Given the description of an element on the screen output the (x, y) to click on. 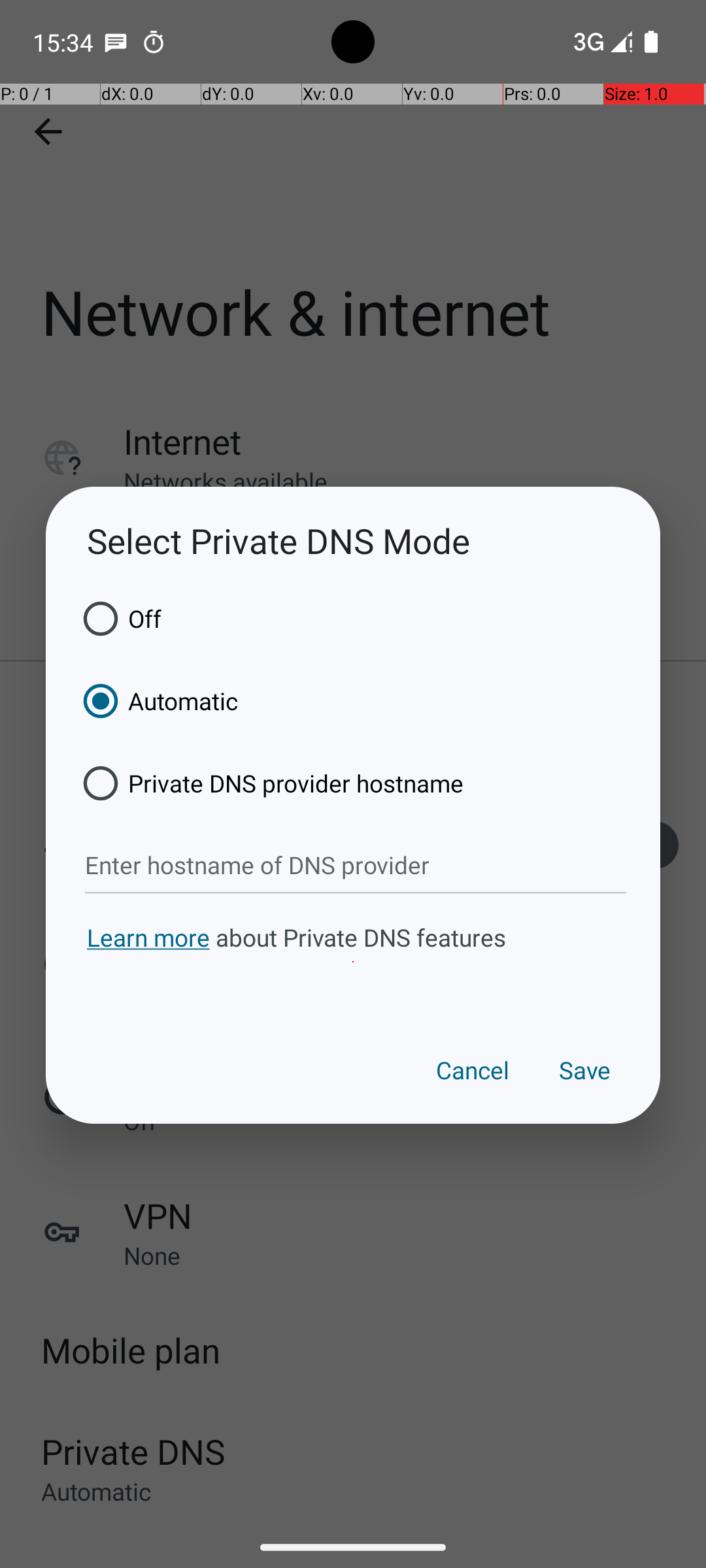
Select Private DNS Mode Element type: android.widget.TextView (352, 540)
Learn more about Private DNS features Element type: android.widget.TextView (352, 961)
Private DNS provider hostname Element type: android.widget.RadioButton (268, 783)
Enter hostname of DNS provider Element type: android.widget.EditText (355, 865)
